Given the description of an element on the screen output the (x, y) to click on. 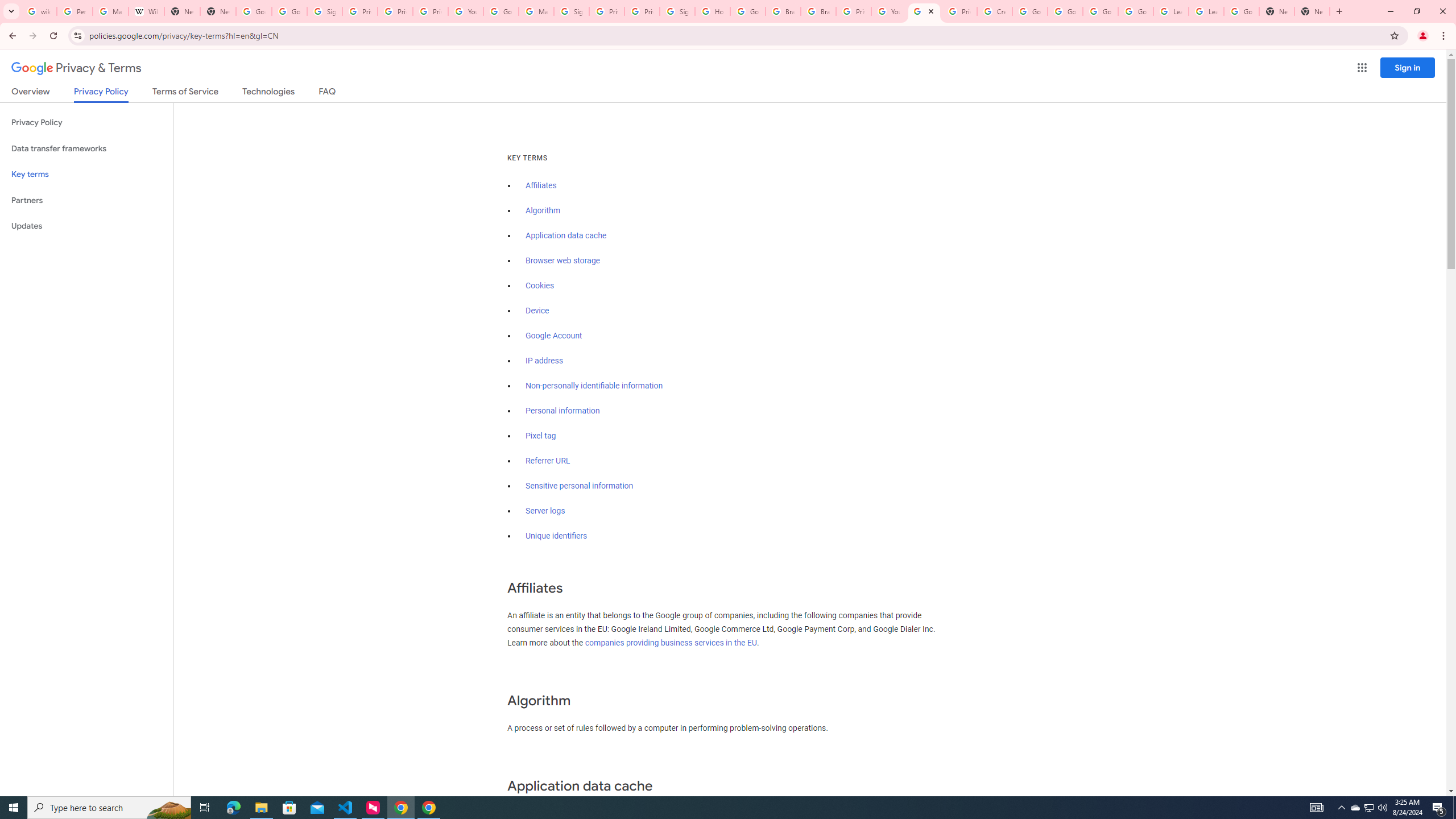
Google Account Help (1029, 11)
Google Account Help (501, 11)
Google Account (1240, 11)
Sensitive personal information (579, 486)
